Given the description of an element on the screen output the (x, y) to click on. 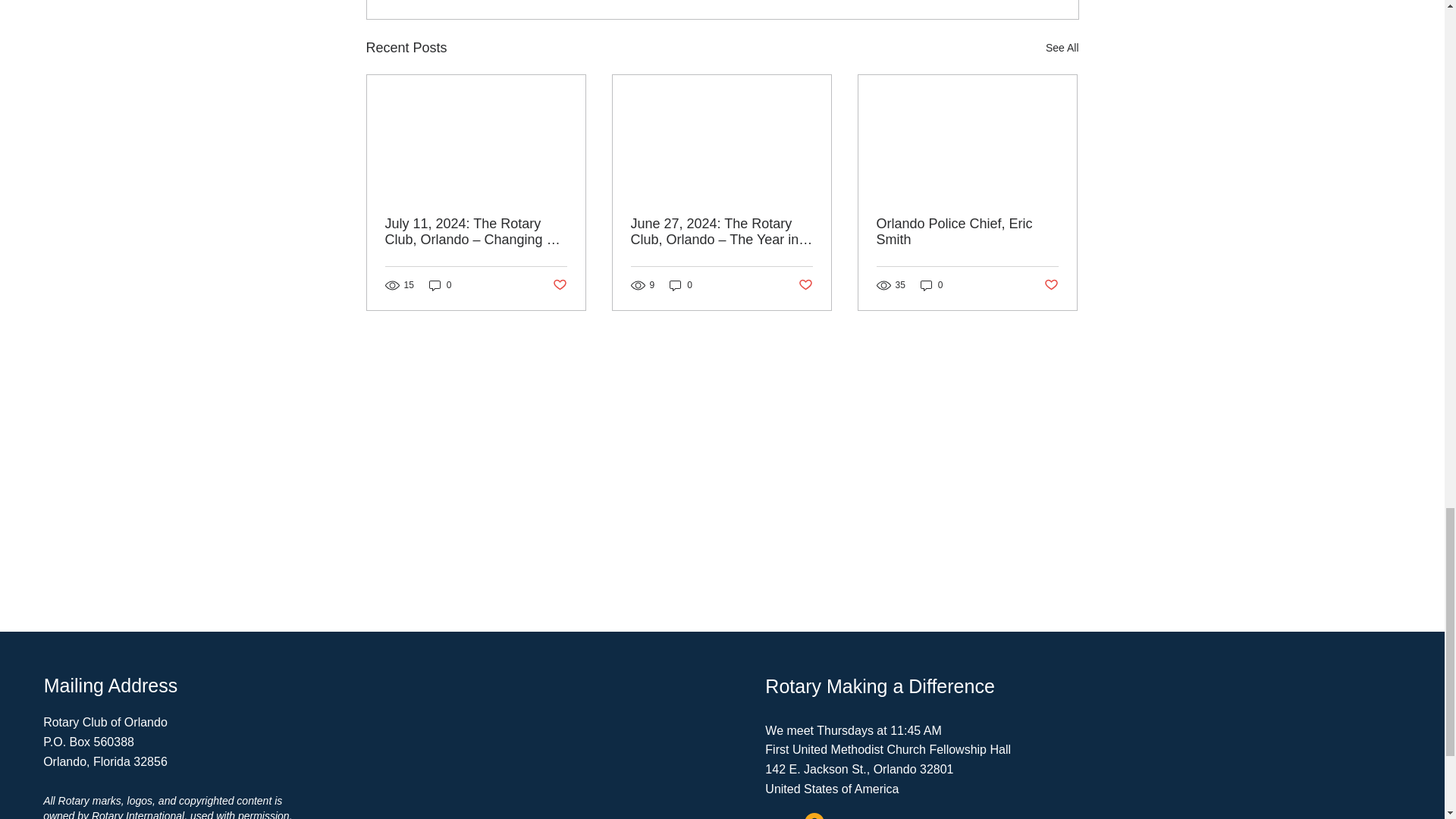
See All (1061, 47)
0 (440, 285)
